Given the description of an element on the screen output the (x, y) to click on. 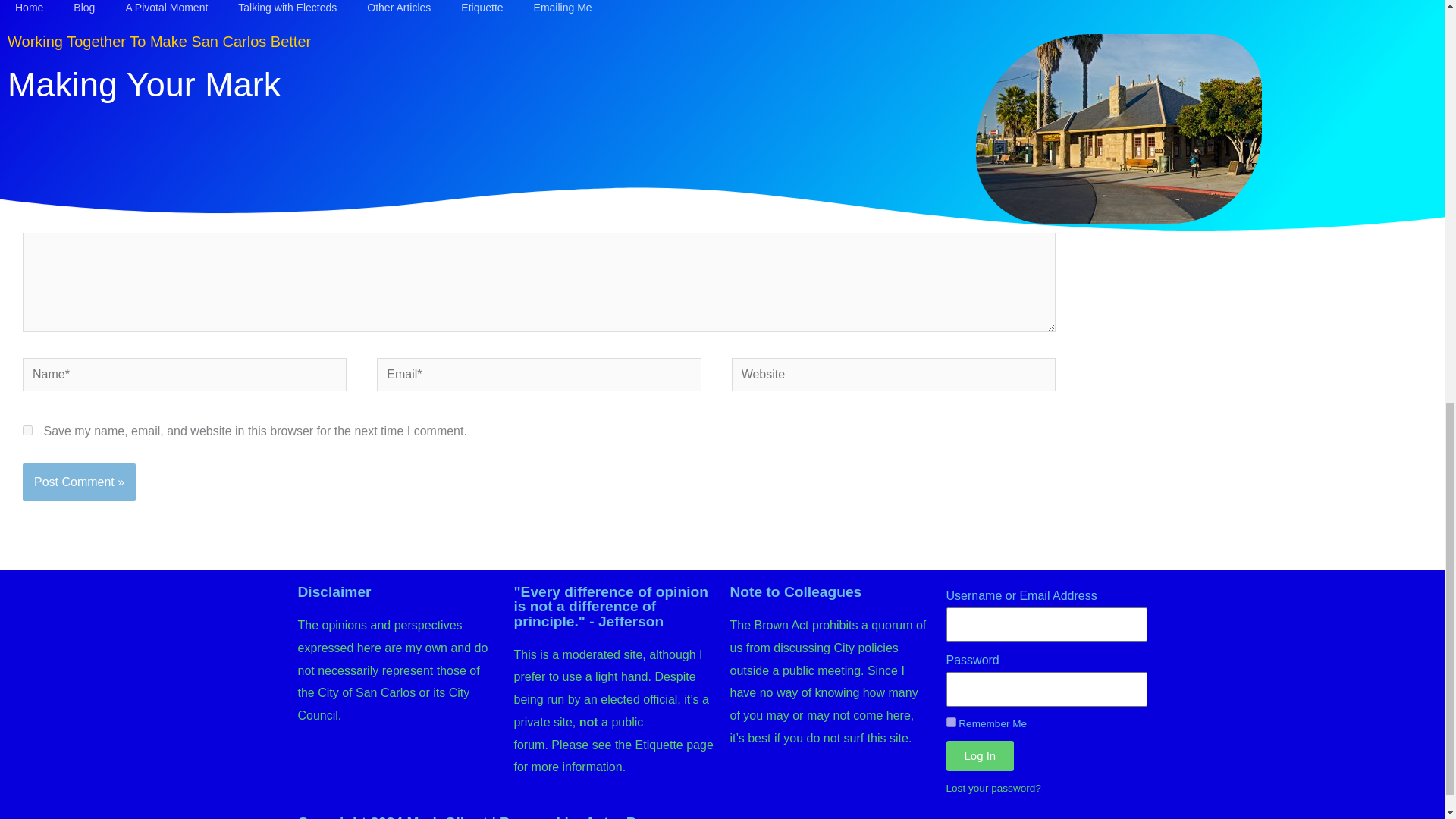
Mastodon (52, 5)
yes (27, 429)
Facebook (22, 5)
forever (951, 722)
Mastodon (52, 5)
Email (83, 5)
Email (83, 5)
Facebook (22, 5)
